Given the description of an element on the screen output the (x, y) to click on. 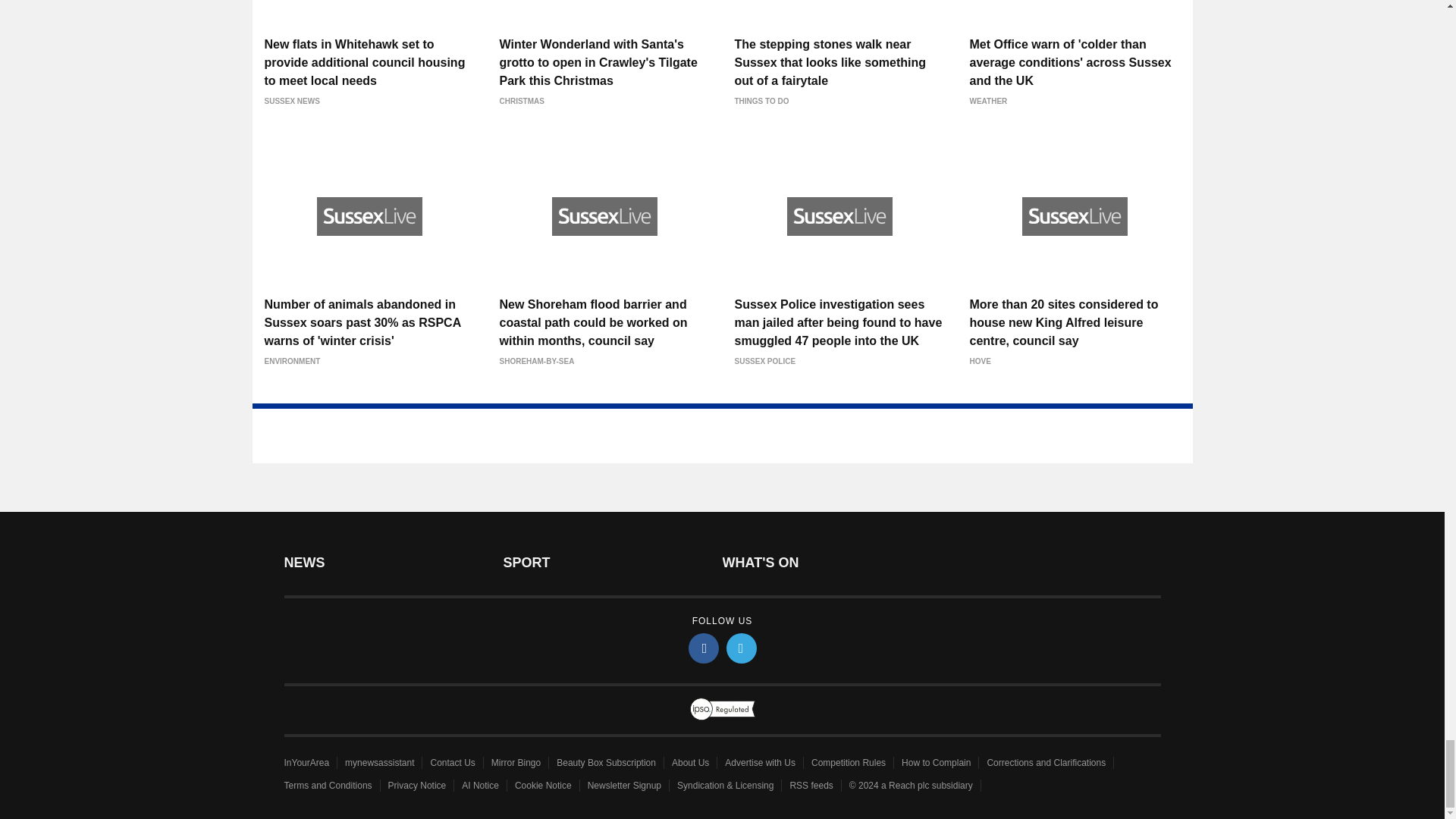
twitter (741, 648)
facebook (703, 648)
